Given the description of an element on the screen output the (x, y) to click on. 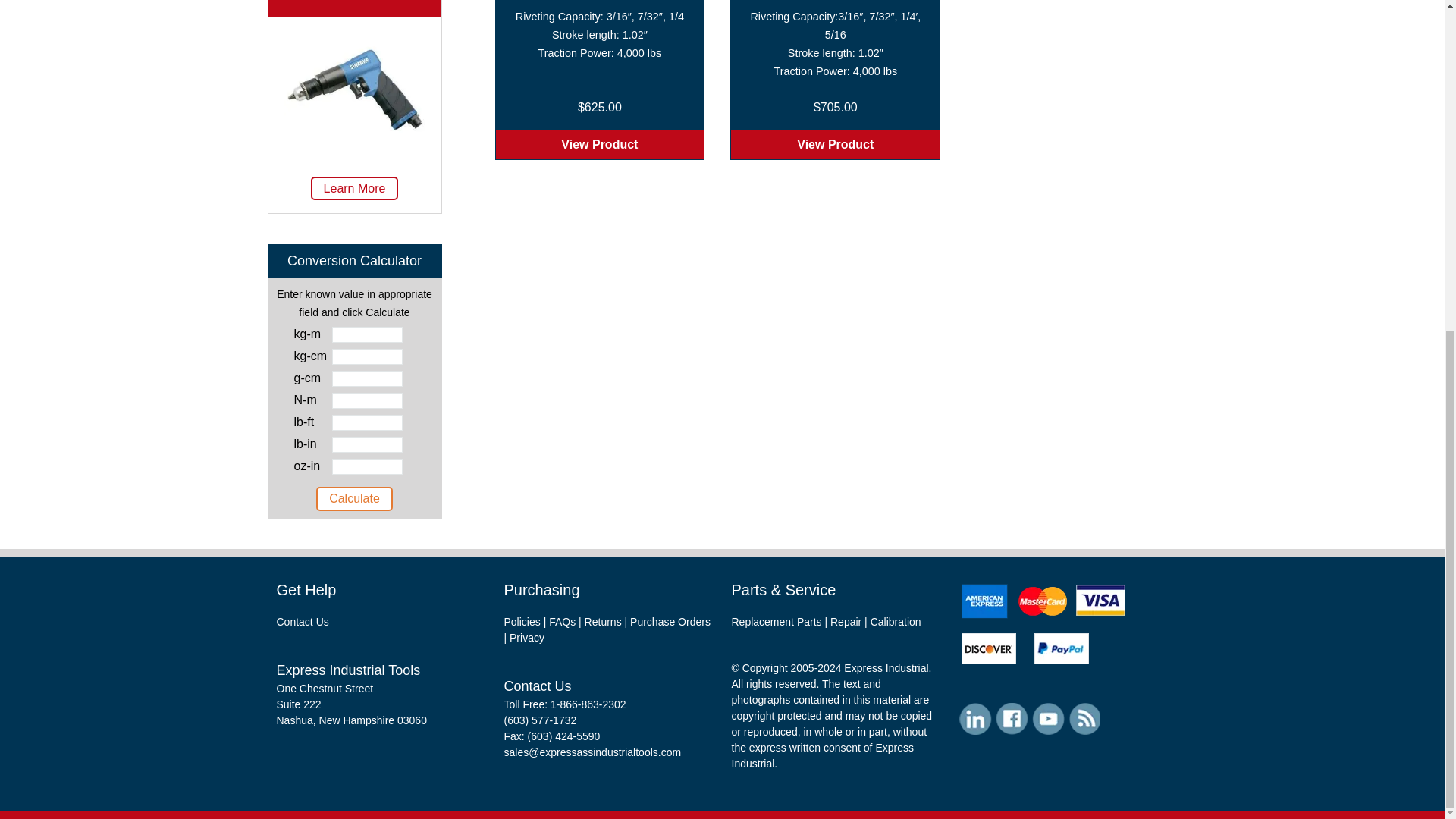
Calculate (354, 498)
